Given the description of an element on the screen output the (x, y) to click on. 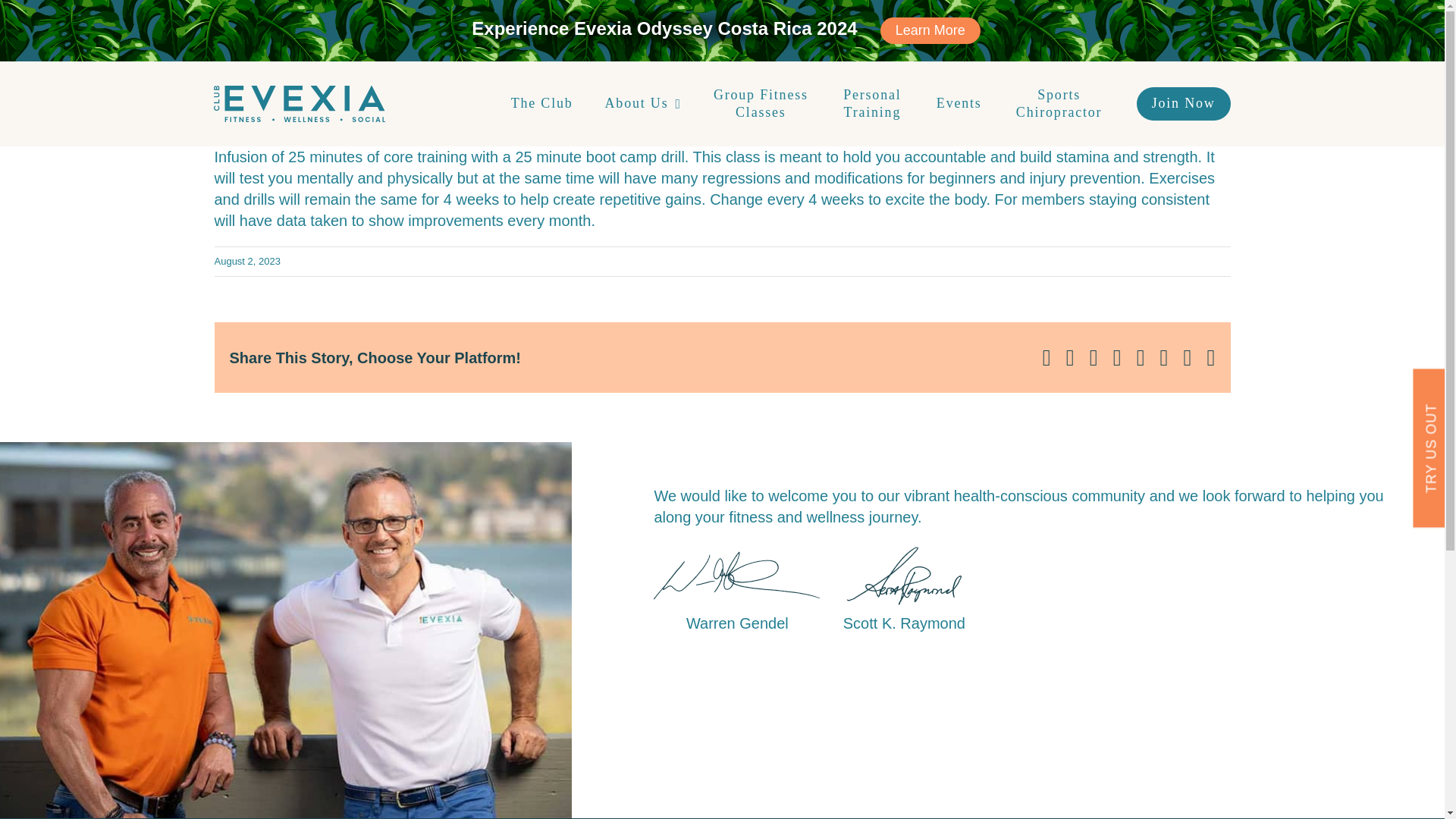
Learn More (929, 30)
Group Fitness Classes (760, 104)
Personal Training (872, 104)
About Us (643, 103)
Sports Chiropractor (1059, 104)
The Club (542, 103)
Events (958, 103)
Join Now (1183, 102)
